Given the description of an element on the screen output the (x, y) to click on. 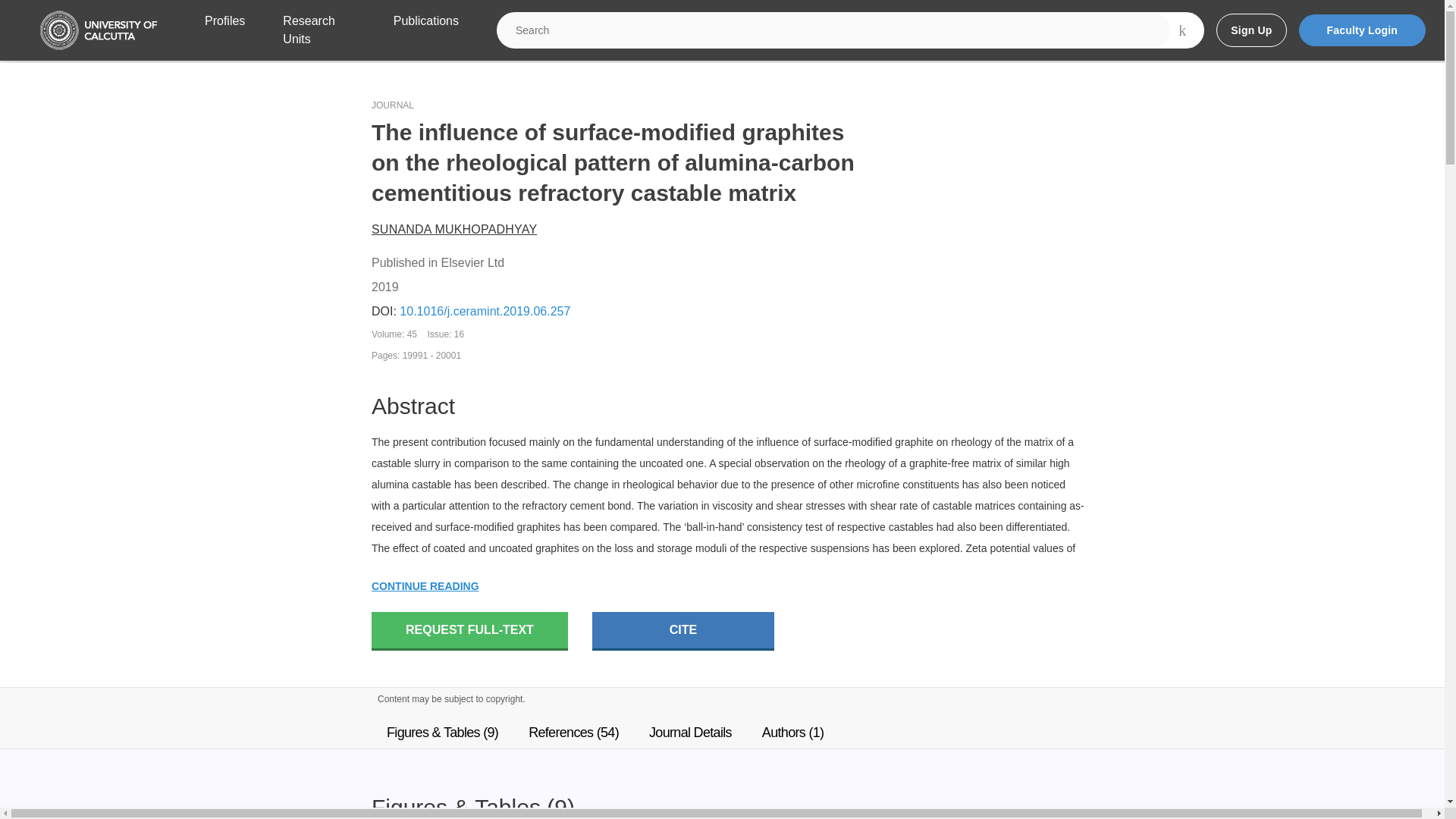
REQUEST FULL-TEXT (469, 630)
CITE (683, 630)
Faculty Login (1361, 29)
SUNANDA MUKHOPADHYAY (454, 228)
Institution logo (98, 30)
Journal Details (689, 732)
Publications (425, 30)
Profiles (224, 30)
Research Units (318, 30)
Sign Up (1250, 29)
